Given the description of an element on the screen output the (x, y) to click on. 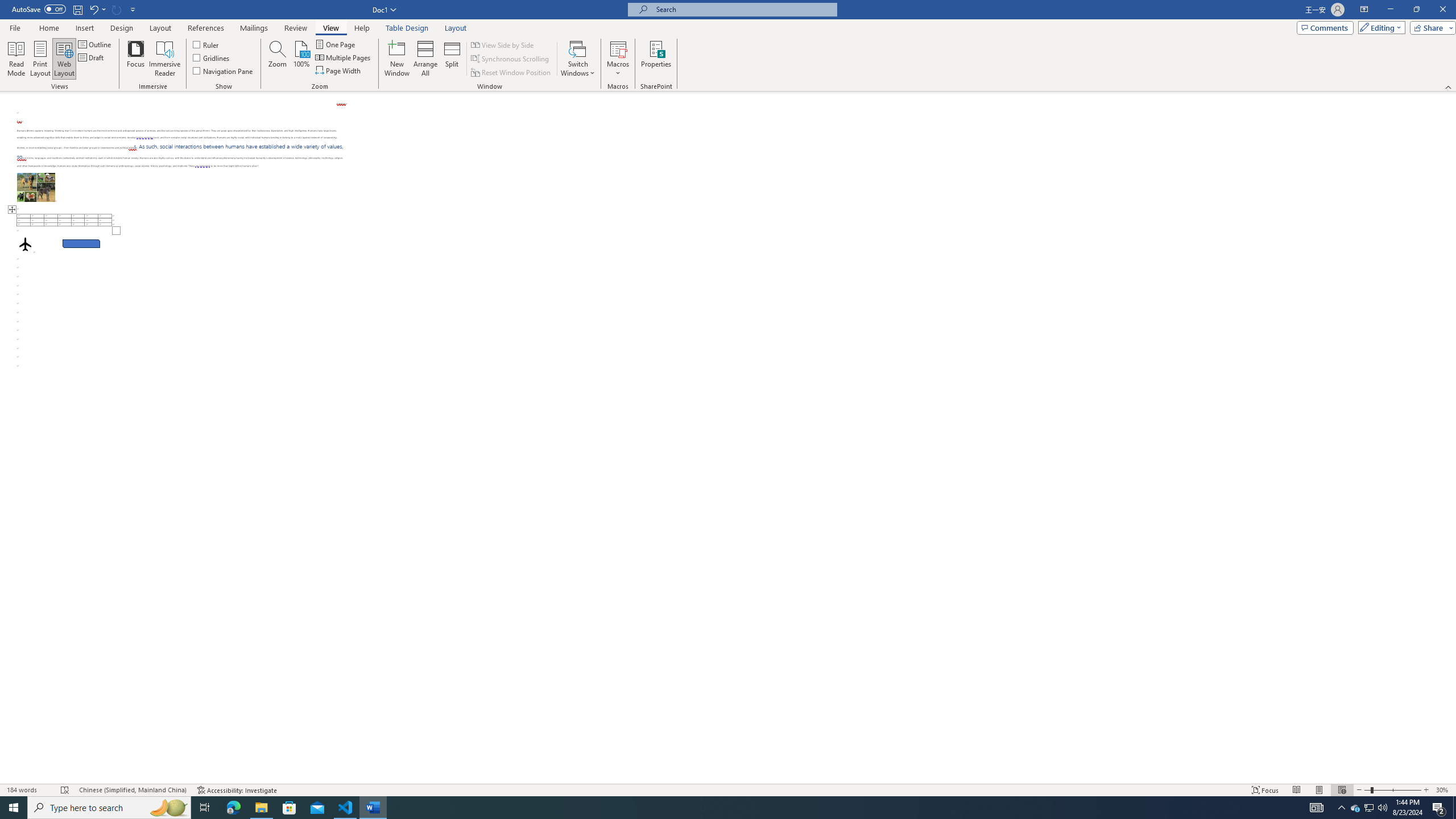
Reset Window Position (511, 72)
100% (301, 58)
Zoom... (276, 58)
Properties (655, 58)
Airplane with solid fill (25, 243)
